Given the description of an element on the screen output the (x, y) to click on. 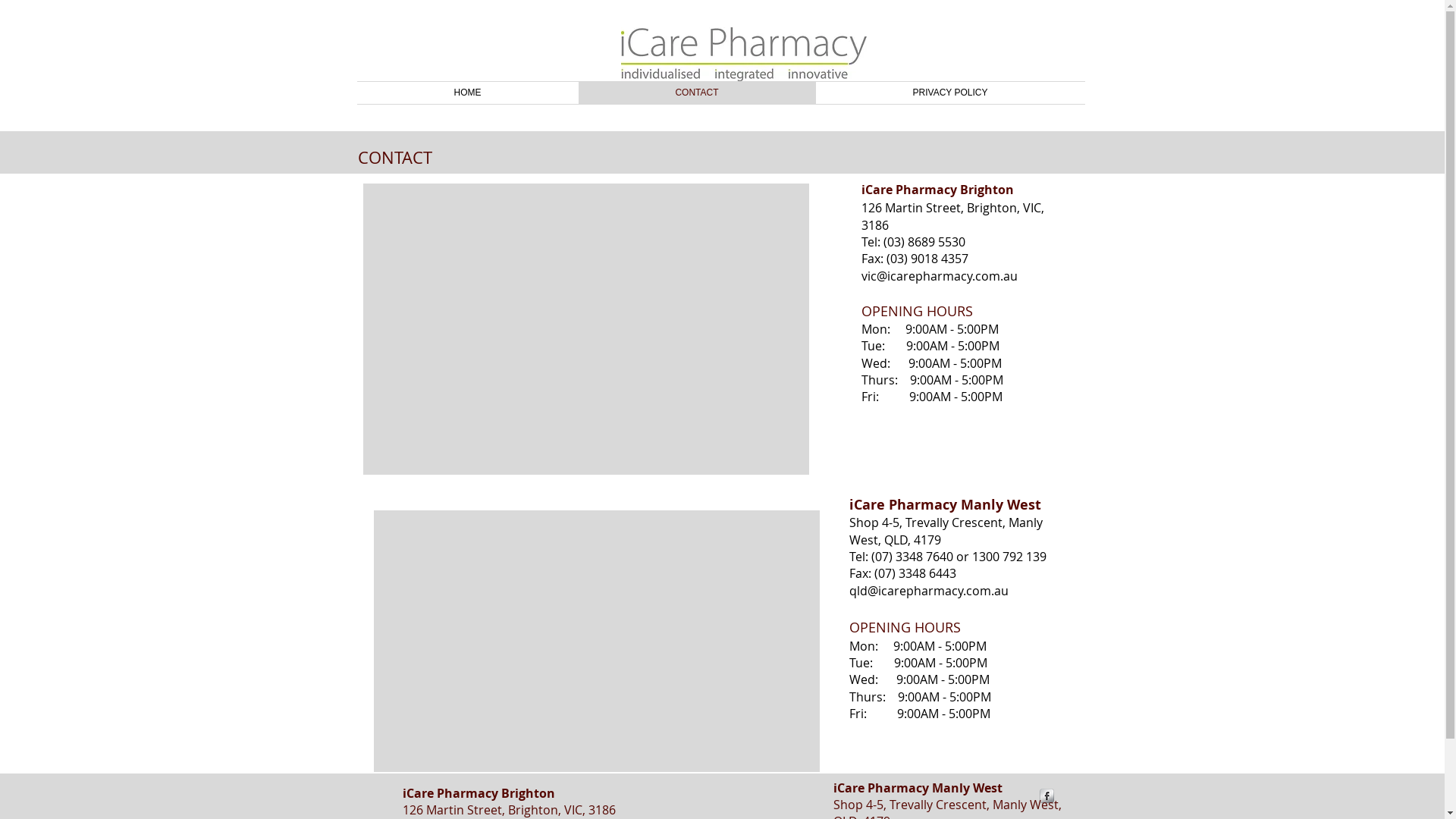
vic@icarepharmacy.com.au Element type: text (939, 275)
CONTACT Element type: text (696, 92)
Google Maps Element type: hover (585, 328)
iCare Logo_FULL_PMS.jpg Element type: hover (743, 53)
PRIVACY POLICY Element type: text (950, 92)
HOME Element type: text (466, 92)
qld@icarepharmacy.com.au Element type: text (928, 590)
Google Maps Element type: hover (596, 640)
